Given the description of an element on the screen output the (x, y) to click on. 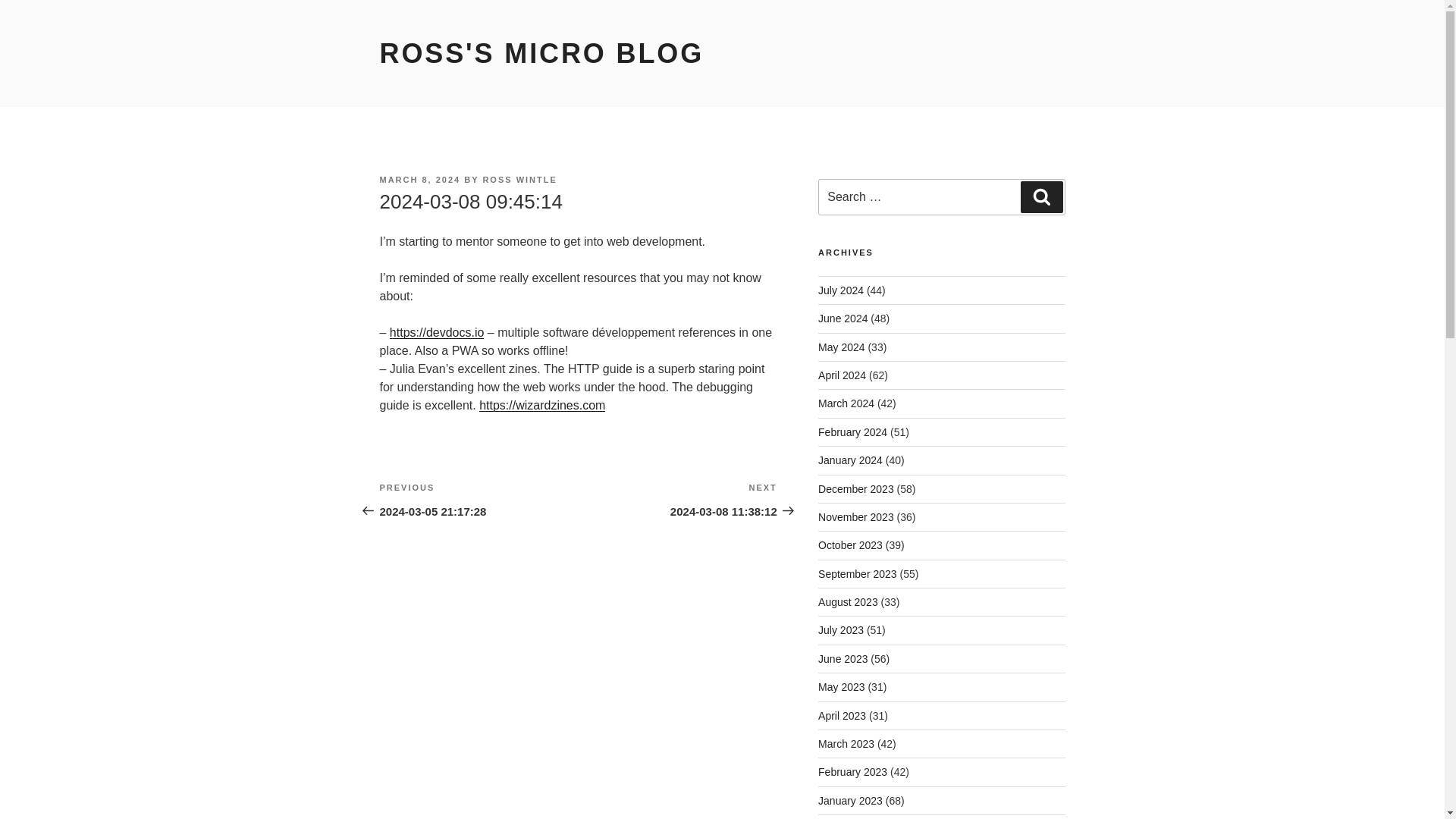
July 2024 (840, 290)
MARCH 8, 2024 (419, 179)
January 2023 (850, 800)
Search (1041, 196)
September 2023 (478, 499)
ROSS'S MICRO BLOG (857, 573)
June 2024 (540, 52)
August 2023 (842, 318)
April 2023 (847, 602)
ROSS WINTLE (842, 715)
November 2023 (518, 179)
February 2024 (855, 517)
May 2023 (852, 431)
April 2024 (841, 686)
